Given the description of an element on the screen output the (x, y) to click on. 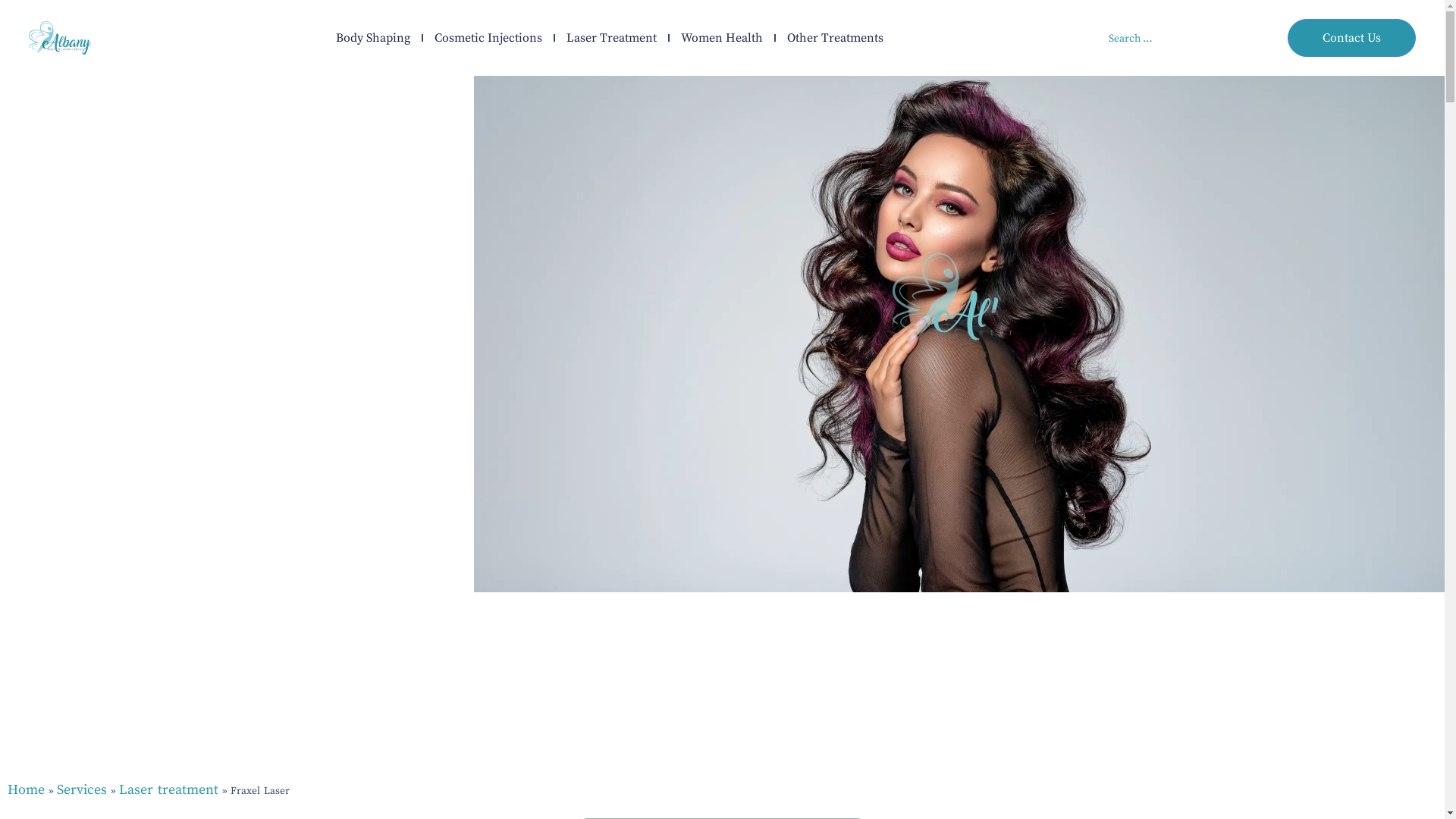
Laser Treatment Element type: text (611, 37)
Body Shaping Element type: text (372, 37)
Services Element type: text (81, 789)
Laser treatment Element type: text (168, 789)
Women Health Element type: text (721, 37)
Contact Us Element type: text (1351, 37)
Cosmetic Injections Element type: text (488, 37)
Other Treatments Element type: text (835, 37)
Home Element type: text (25, 789)
